Given the description of an element on the screen output the (x, y) to click on. 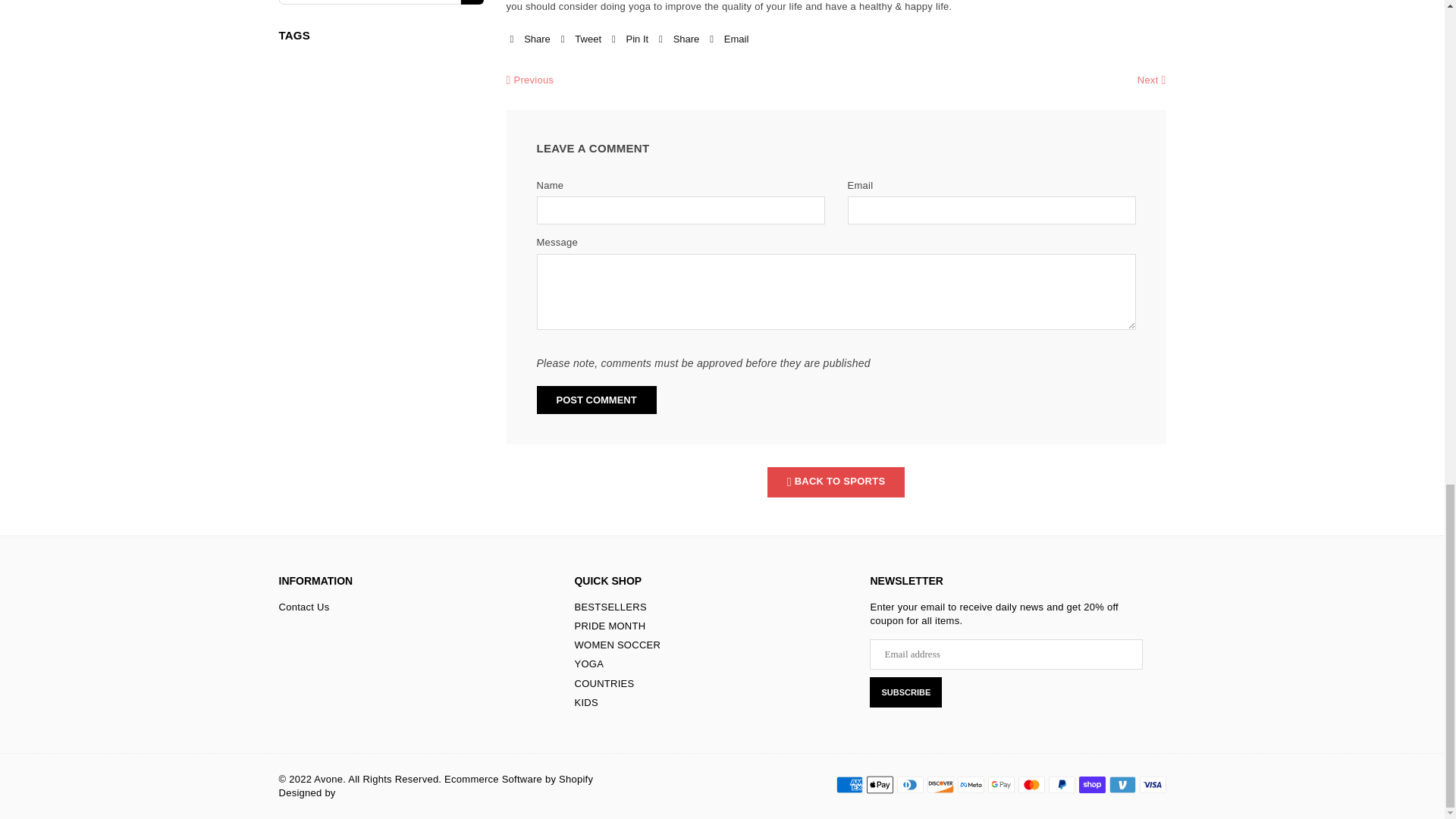
Email (729, 39)
Discover (939, 784)
Next (1151, 79)
Pin It (629, 39)
Diners Club (909, 784)
Visa (1152, 784)
Previous (530, 79)
PayPal (1061, 784)
Pin on Pinterest (629, 39)
Venmo (1121, 784)
